Given the description of an element on the screen output the (x, y) to click on. 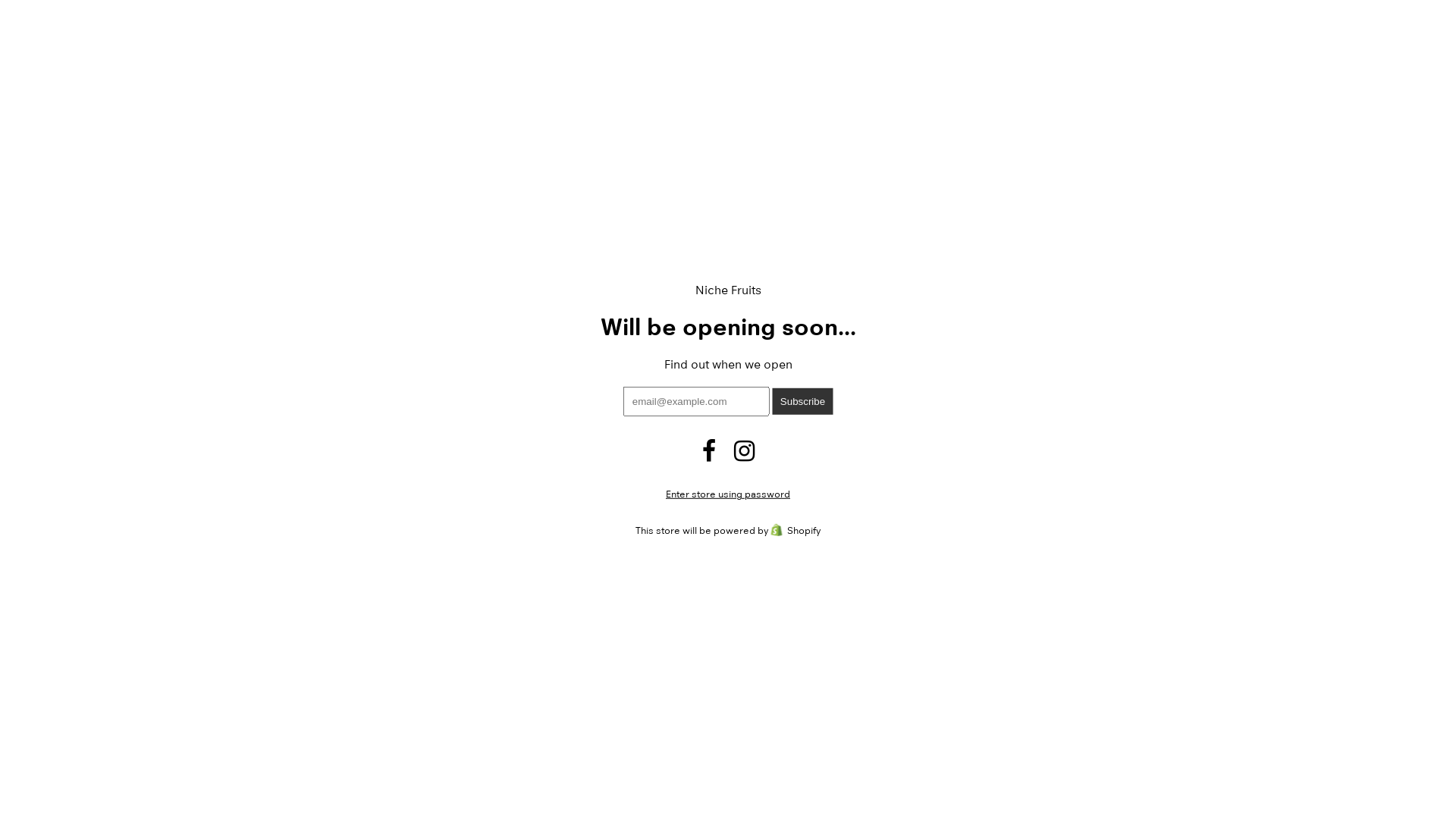
Shopify Element type: text (795, 530)
Subscribe Element type: text (802, 401)
Enter store using password Element type: text (727, 493)
